Given the description of an element on the screen output the (x, y) to click on. 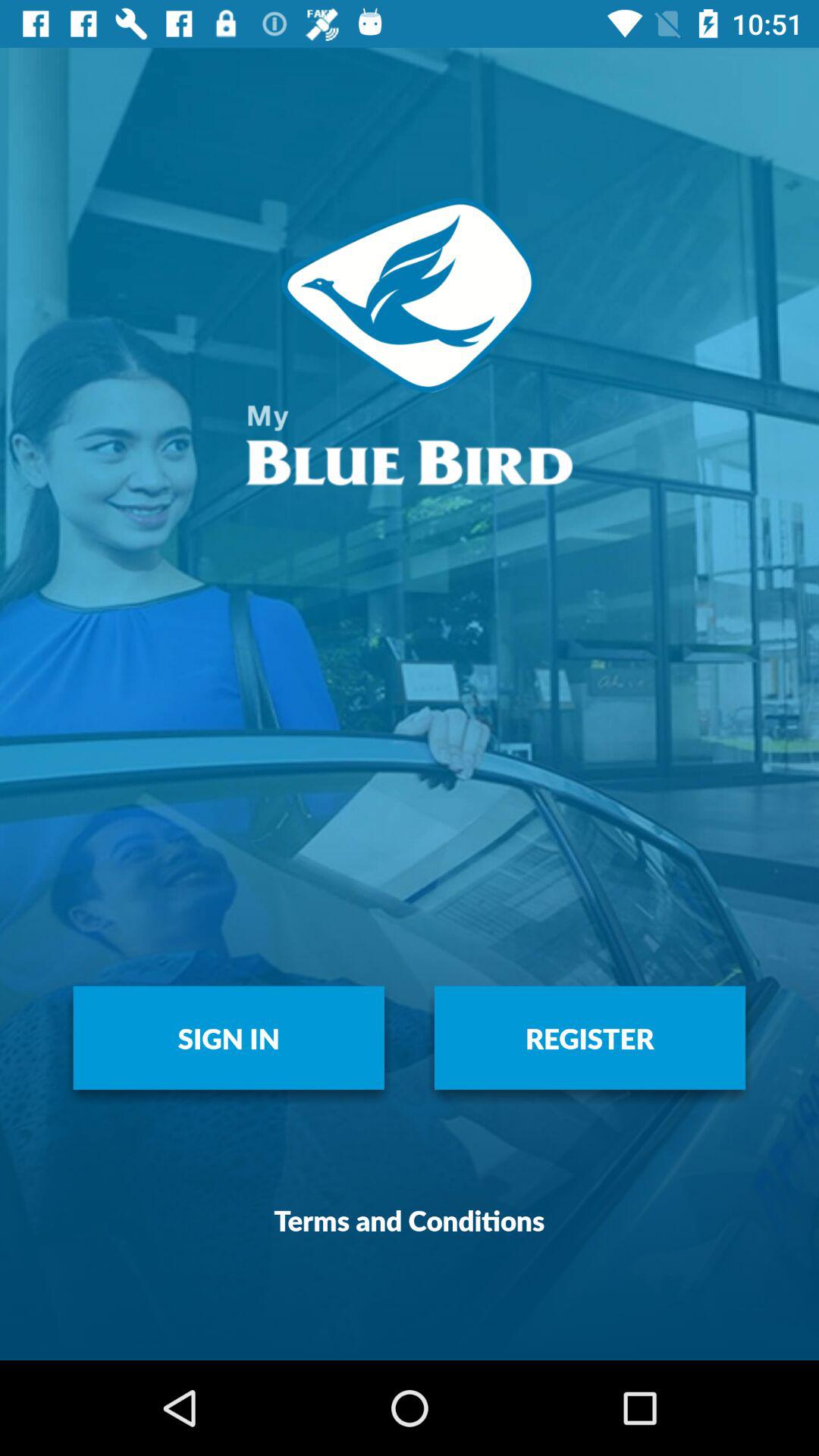
click the icon below sign in (409, 1219)
